Given the description of an element on the screen output the (x, y) to click on. 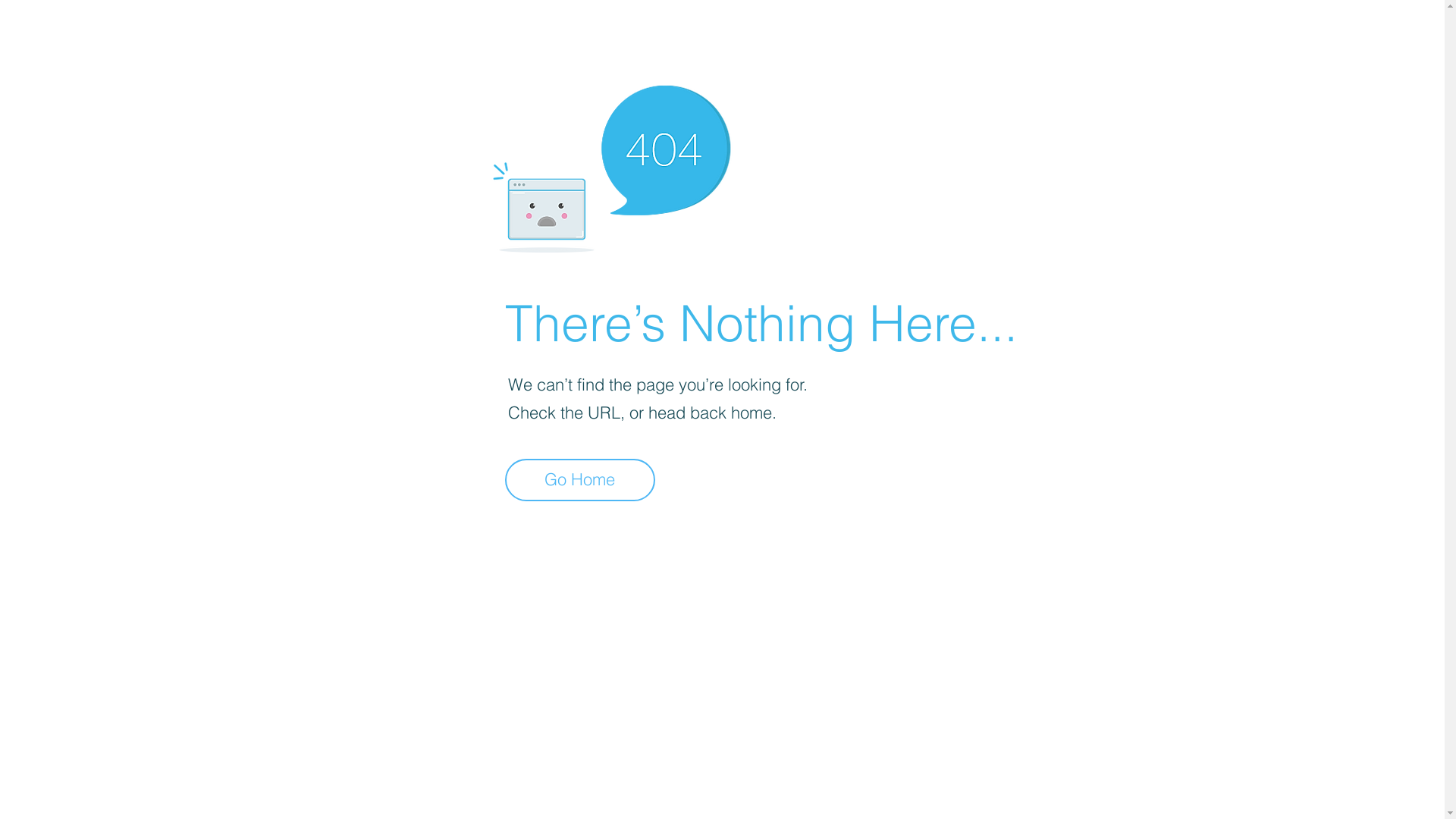
Go Home Element type: text (580, 479)
404-icon_2.png Element type: hover (610, 164)
